Given the description of an element on the screen output the (x, y) to click on. 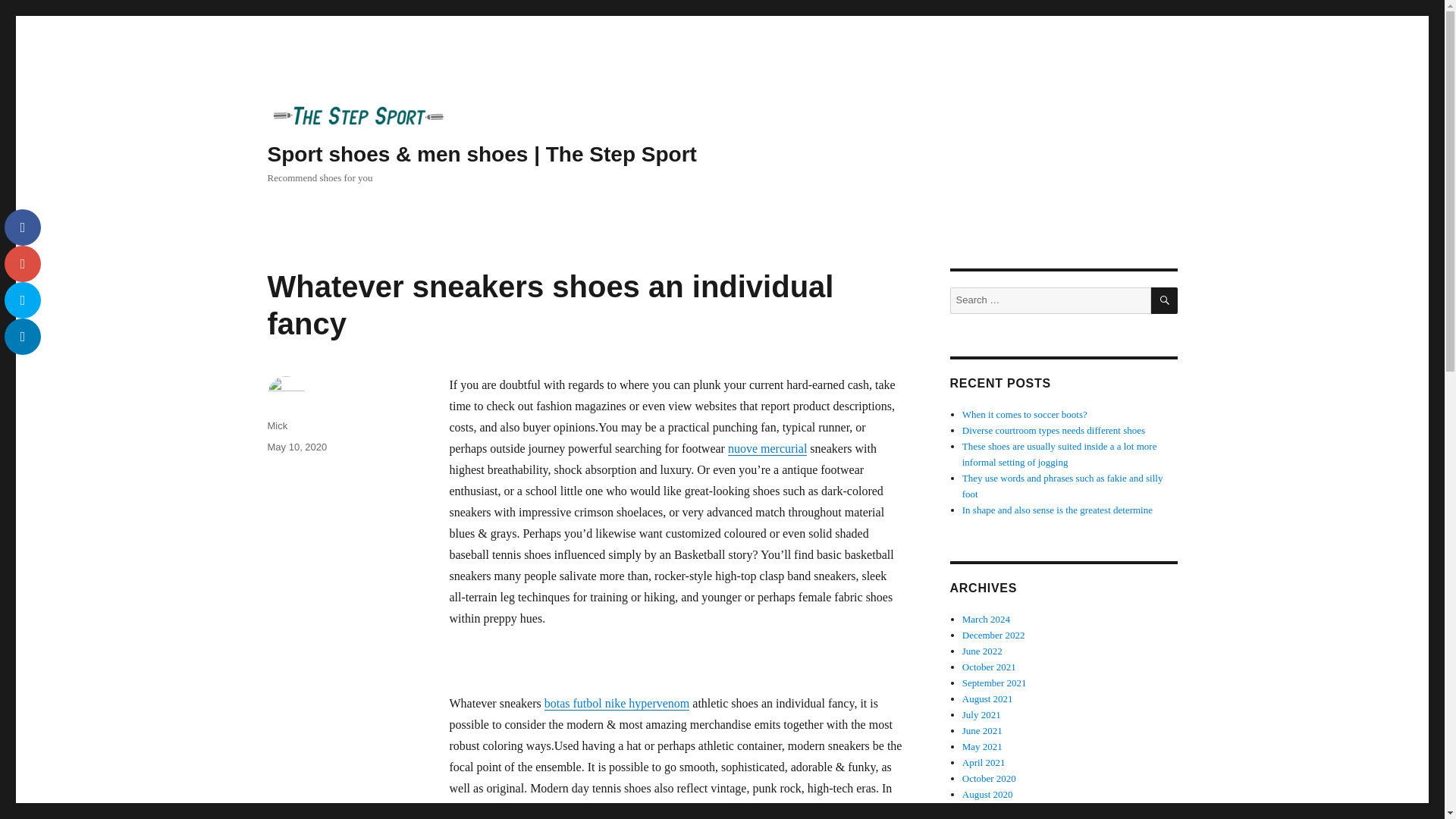
June 2022 (982, 650)
botas futbol nike hypervenom (617, 703)
August 2020 (987, 794)
June 2021 (982, 730)
In shape and also sense is the greatest determine (1057, 509)
September 2021 (994, 682)
October 2021 (989, 666)
March 2024 (986, 618)
When it comes to soccer boots? (1024, 414)
They use words and phrases such as fakie and silly foot (1062, 485)
May 10, 2020 (296, 446)
April 2021 (984, 762)
June 2020 (982, 809)
August 2021 (987, 698)
nuove mercurial (767, 448)
